Given the description of an element on the screen output the (x, y) to click on. 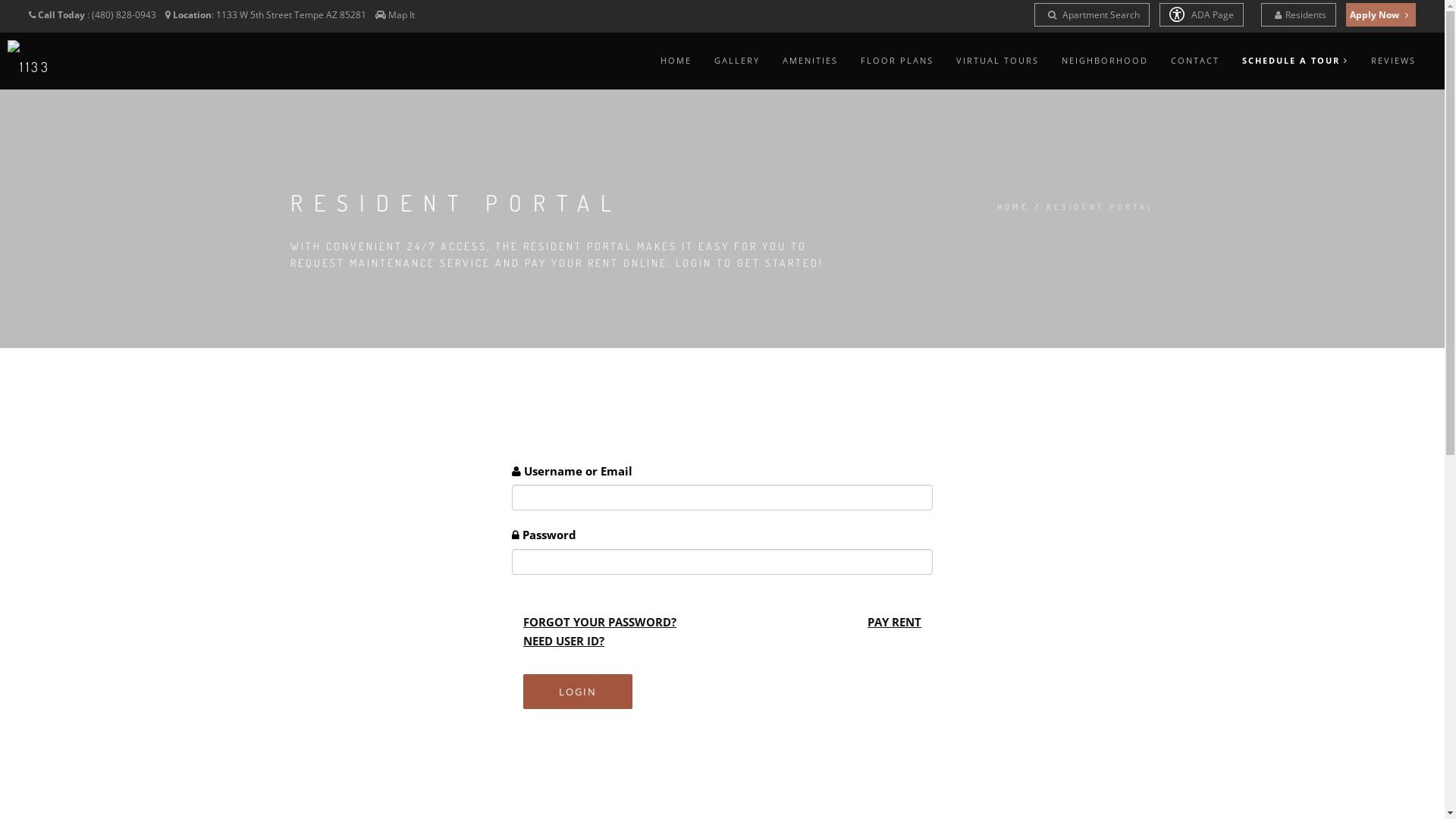
FLOOR PLANS Element type: text (896, 59)
1133 West Fifth in Tempe, AZ Element type: hover (52, 68)
NEIGHBORHOOD Element type: text (1104, 59)
GALLERY Element type: text (736, 59)
PAY RENT Element type: text (894, 622)
SCHEDULE A TOUR Element type: text (1295, 59)
Map It Element type: text (401, 14)
Apply Now Element type: text (1380, 14)
REVIEWS Element type: text (1393, 59)
AMENITIES Element type: text (809, 59)
HOME Element type: text (1013, 207)
Apartment Search Element type: text (1091, 14)
LOGIN Element type: text (577, 691)
NEED USER ID? Element type: text (563, 640)
1133 W 5th Street Tempe AZ 85281 Element type: text (292, 14)
HOME Element type: text (675, 59)
CONTACT Element type: text (1194, 59)
FORGOT YOUR PASSWORD? Element type: text (599, 621)
VIRTUAL TOURS Element type: text (997, 59)
Residents Element type: text (1298, 14)
ADA Page Element type: text (1201, 14)
